Given the description of an element on the screen output the (x, y) to click on. 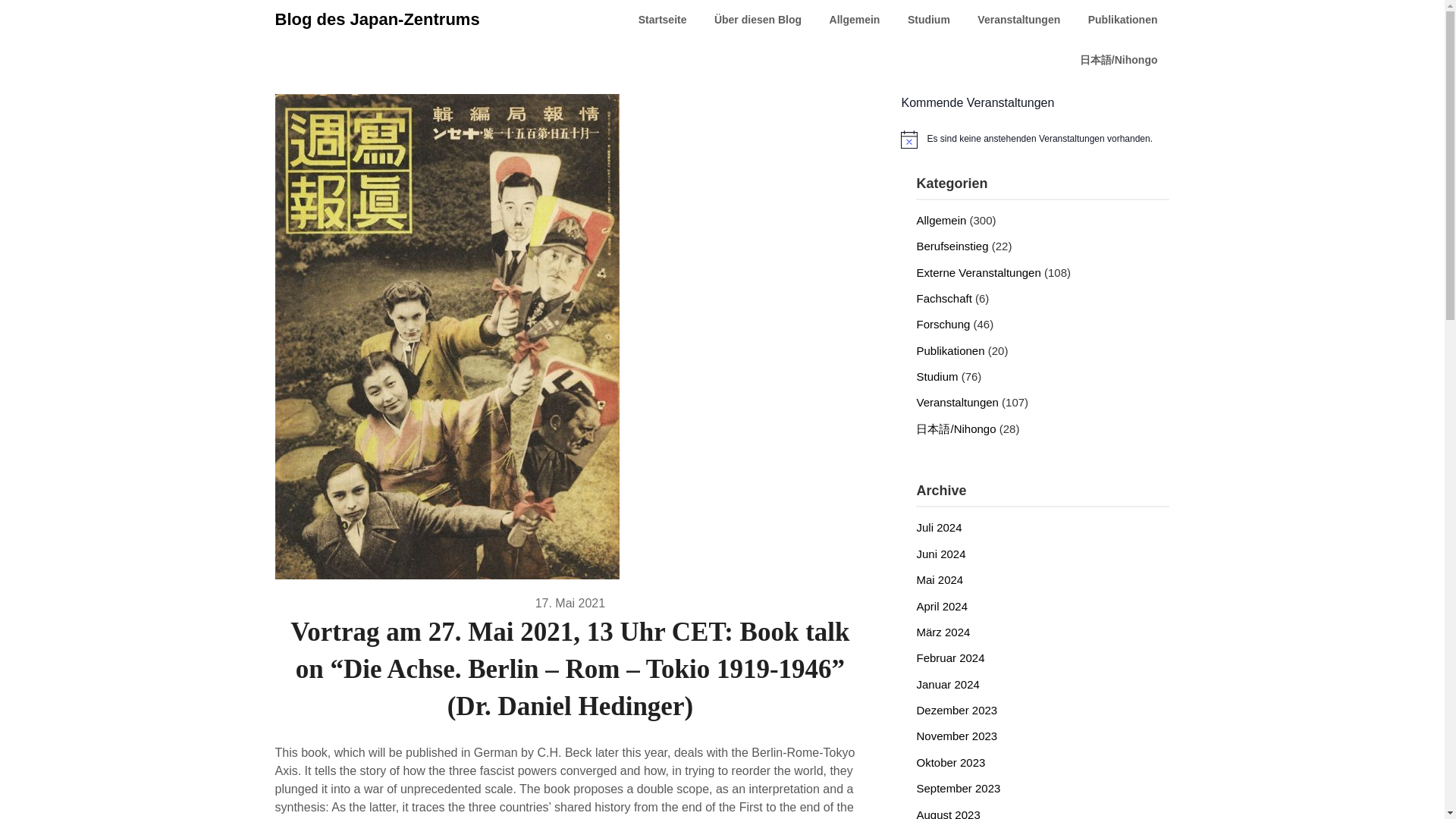
September 2023 (957, 788)
17. Mai 2021 (570, 602)
Mai 2024 (938, 579)
Veranstaltungen (956, 401)
Juli 2024 (937, 526)
Studium (936, 376)
Berufseinstieg (951, 245)
Januar 2024 (946, 684)
April 2024 (941, 605)
Externe Veranstaltungen (978, 272)
Juni 2024 (940, 553)
Studium (928, 20)
November 2023 (956, 735)
Publikationen (949, 350)
Allgemein (940, 219)
